Given the description of an element on the screen output the (x, y) to click on. 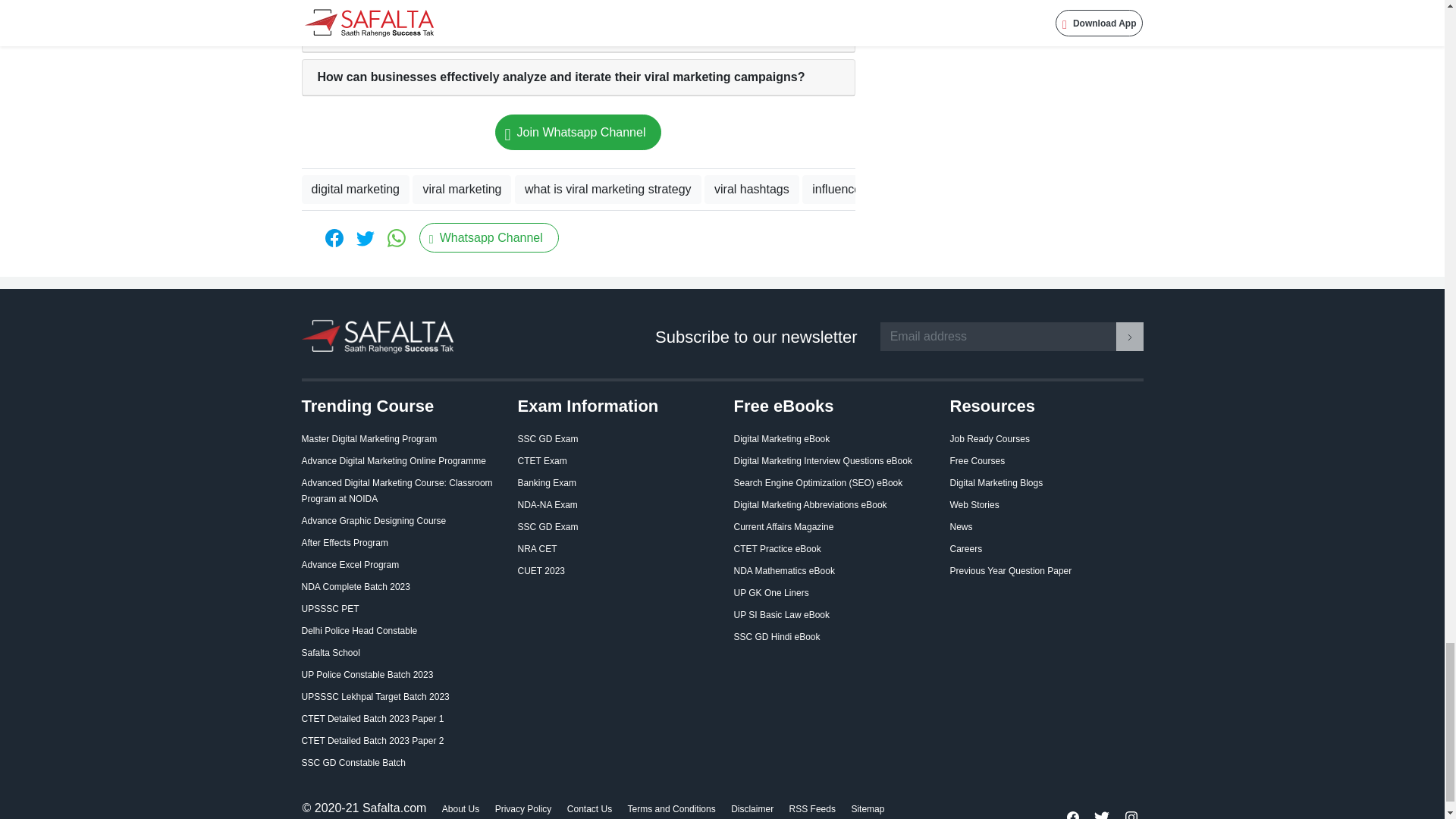
digital marketing (355, 189)
Join Whatsapp Channel (578, 131)
what is viral marketing strategy (608, 189)
follow our whatsapp channel (578, 131)
viral marketing (461, 189)
follow our whatsapp channel (489, 237)
